Given the description of an element on the screen output the (x, y) to click on. 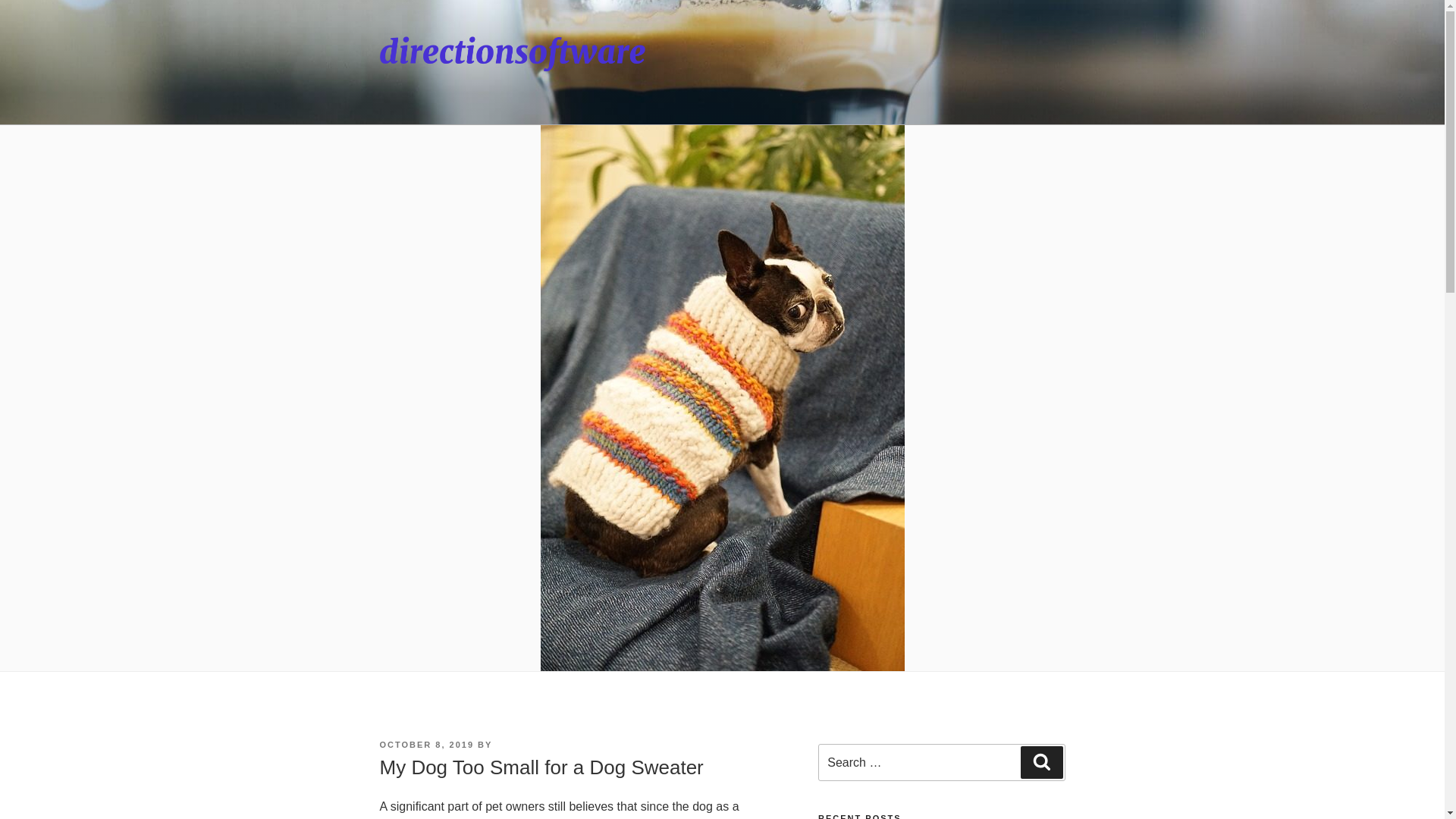
OCTOBER 8, 2019 (426, 744)
Search (1041, 762)
